Given the description of an element on the screen output the (x, y) to click on. 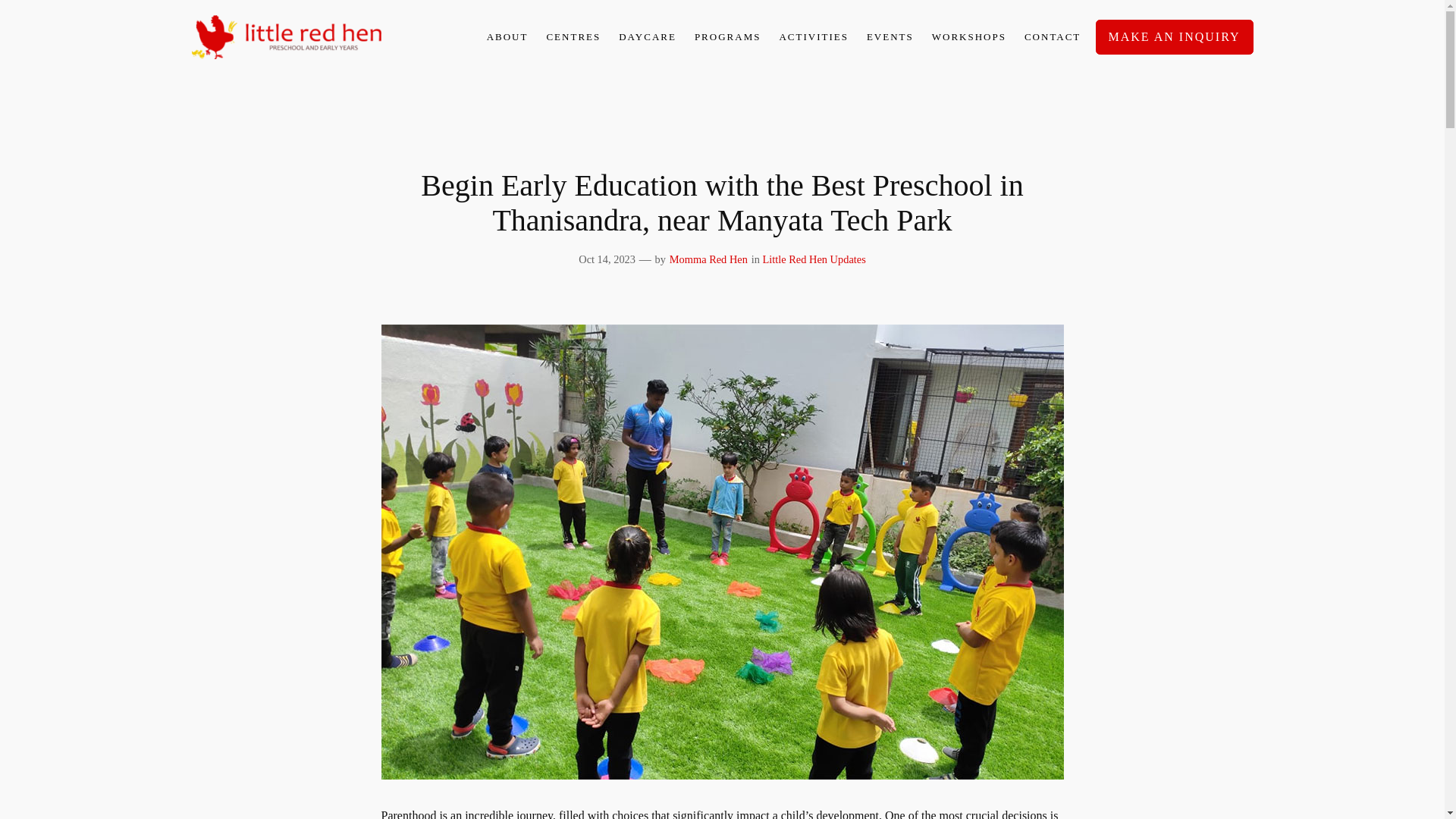
PROGRAMS (727, 37)
Oct 14, 2023 (606, 259)
ABOUT (507, 37)
ACTIVITIES (813, 37)
CENTRES (572, 37)
MAKE AN INQUIRY (1173, 36)
WORKSHOPS (968, 37)
DAYCARE (647, 37)
Momma Red Hen (708, 259)
CONTACT (1052, 37)
